Given the description of an element on the screen output the (x, y) to click on. 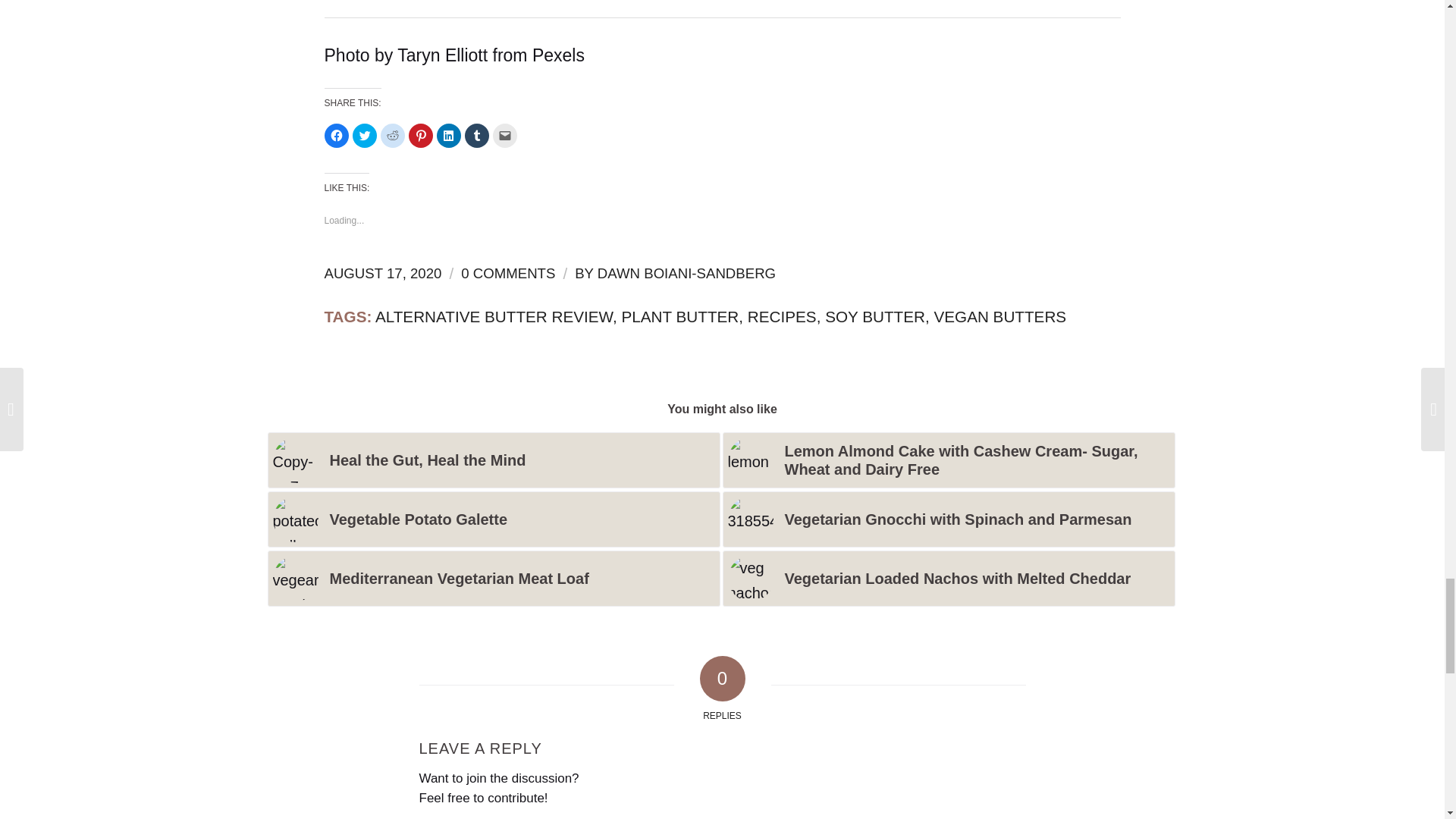
Heal the Gut, Heal the Mind (492, 460)
Click to share on Tumblr (475, 135)
Click to share on LinkedIn (448, 135)
Click to share on Reddit (392, 135)
lemon almond cake (750, 460)
Posts by Dawn Boiani-Sandberg (686, 273)
Click to email a link to a friend (504, 135)
Click to share on Twitter (363, 135)
Vegetable Potato Galette (492, 519)
